Given the description of an element on the screen output the (x, y) to click on. 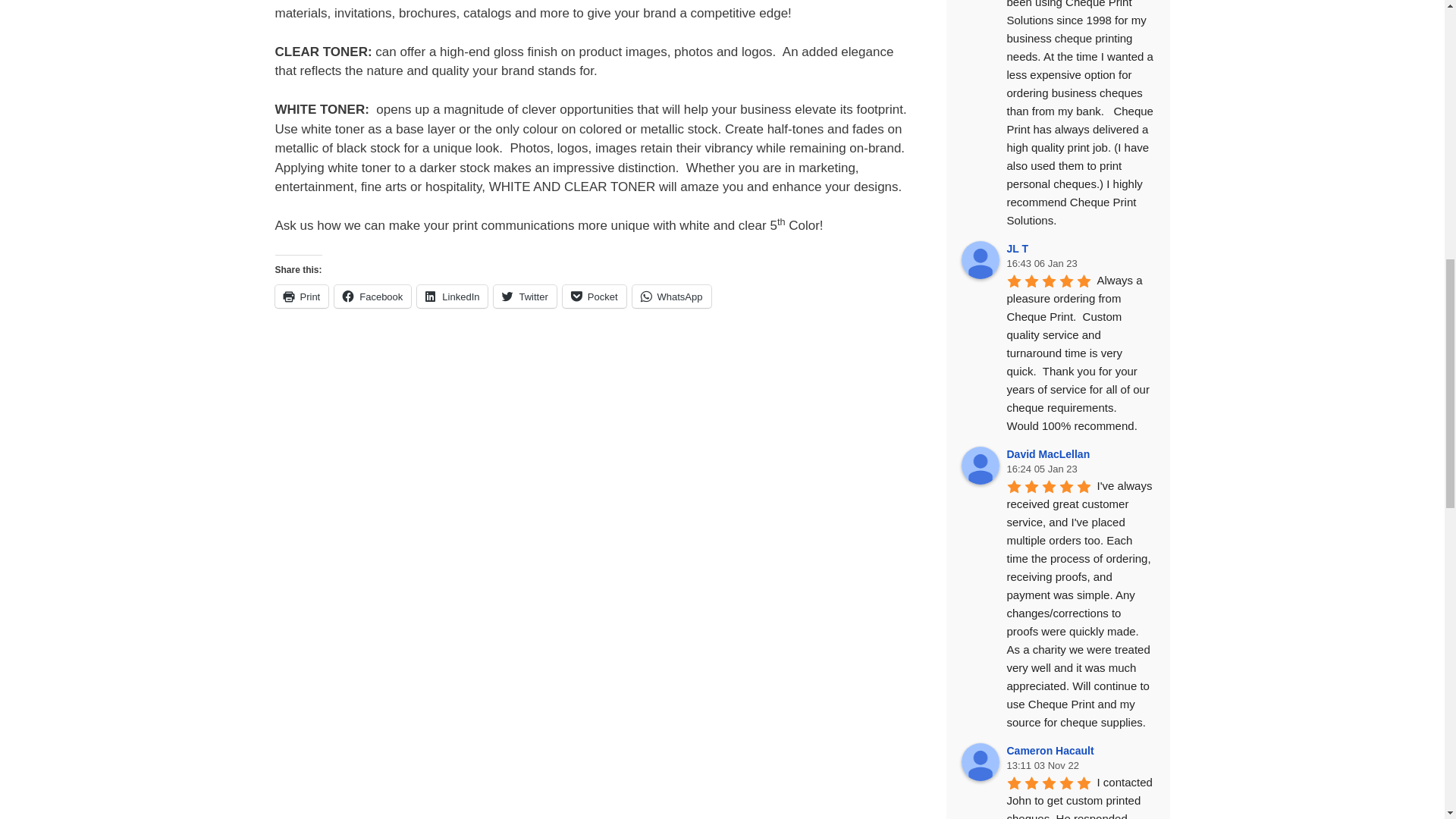
Click to share on Twitter (524, 296)
Click to share on Facebook (372, 296)
Click to print (302, 296)
Click to share on LinkedIn (451, 296)
Click to share on Pocket (594, 296)
